Given the description of an element on the screen output the (x, y) to click on. 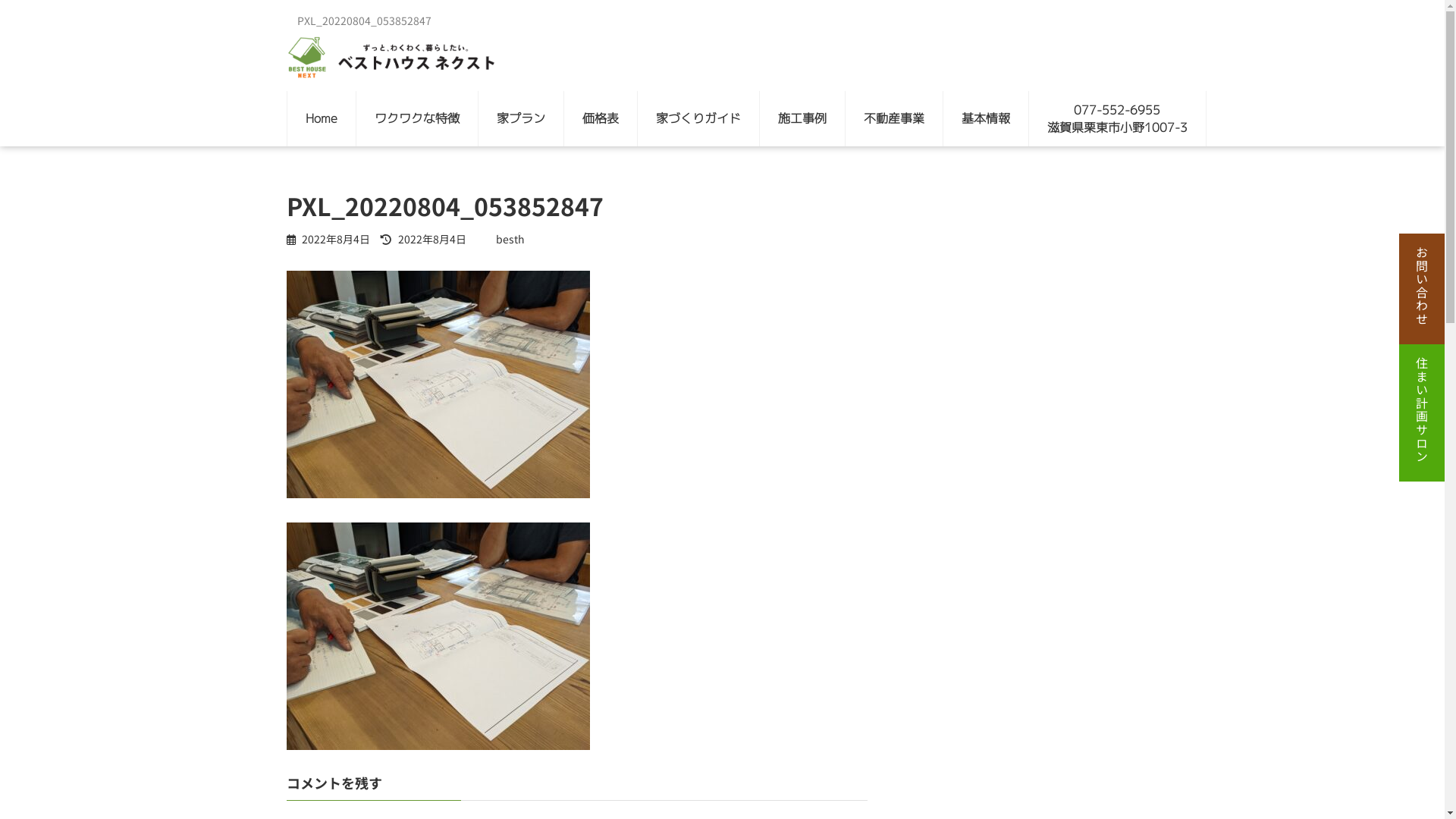
Home Element type: text (320, 118)
